Given the description of an element on the screen output the (x, y) to click on. 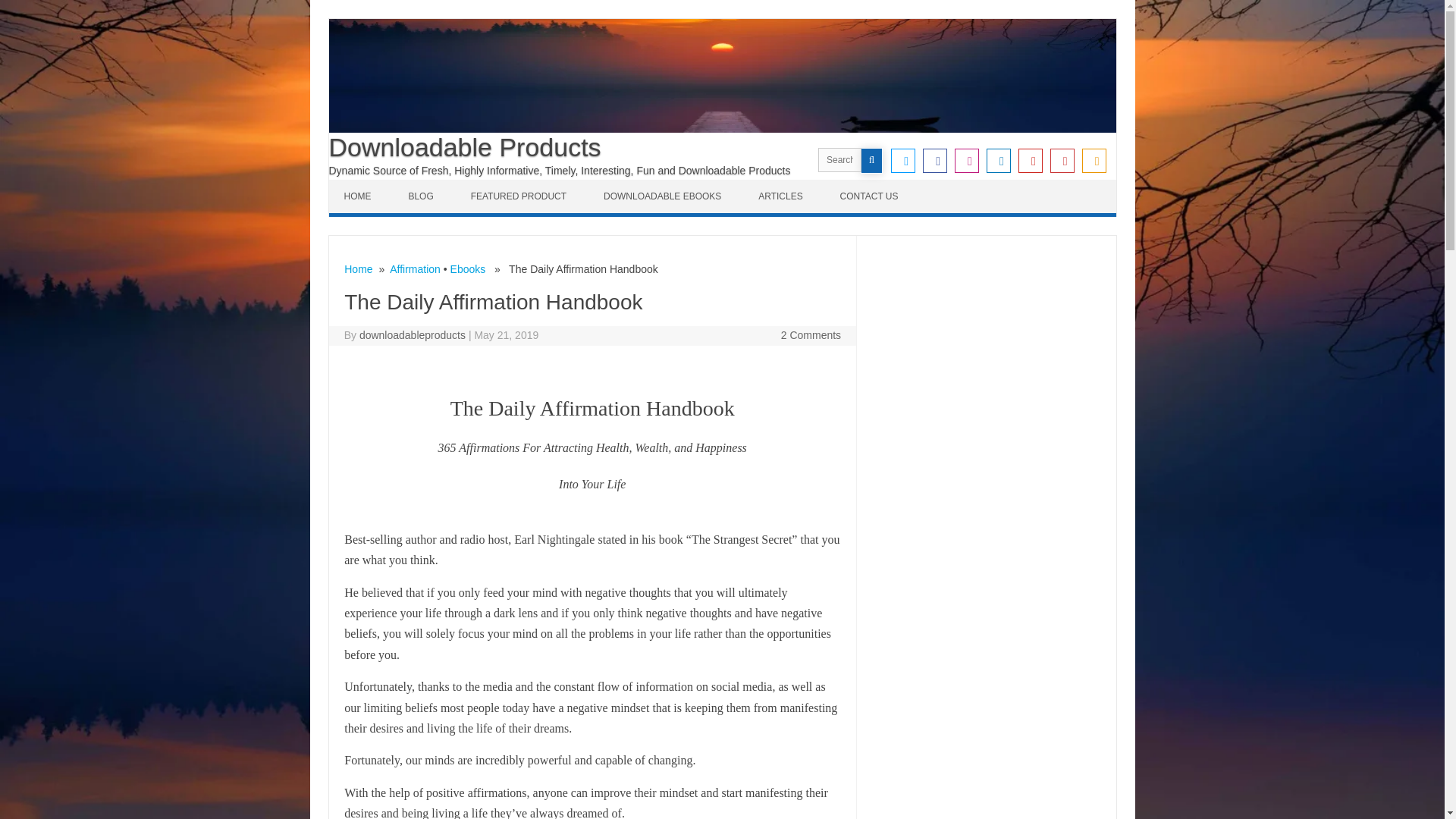
Skip to content (363, 184)
Home (357, 268)
Downloadable Products (465, 146)
Skip to content (363, 184)
downloadableproducts (412, 335)
2 Comments (810, 335)
HOME (359, 195)
Downloadable Products (465, 146)
Ebooks (467, 268)
